Given the description of an element on the screen output the (x, y) to click on. 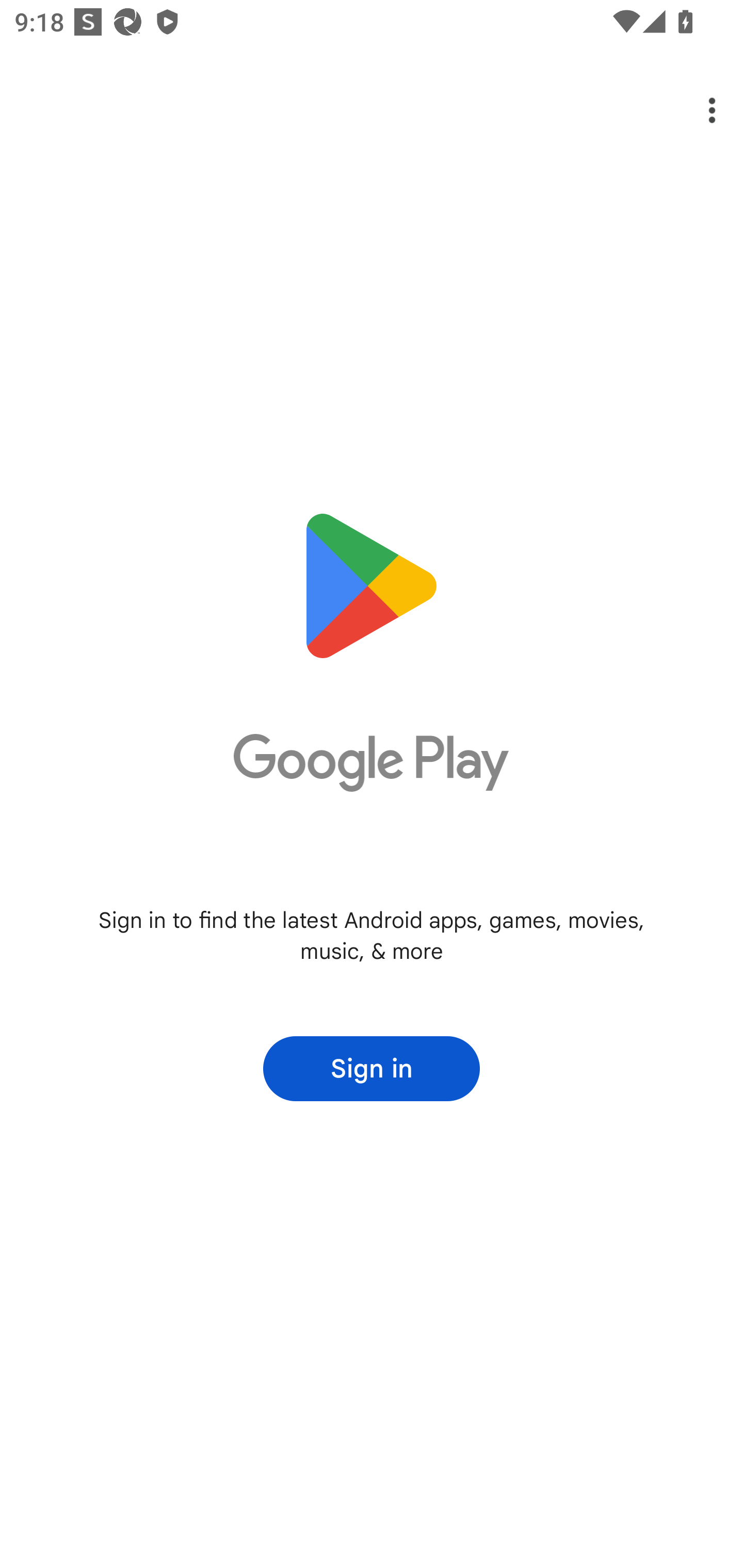
Options (697, 110)
Sign in (371, 1068)
